Given the description of an element on the screen output the (x, y) to click on. 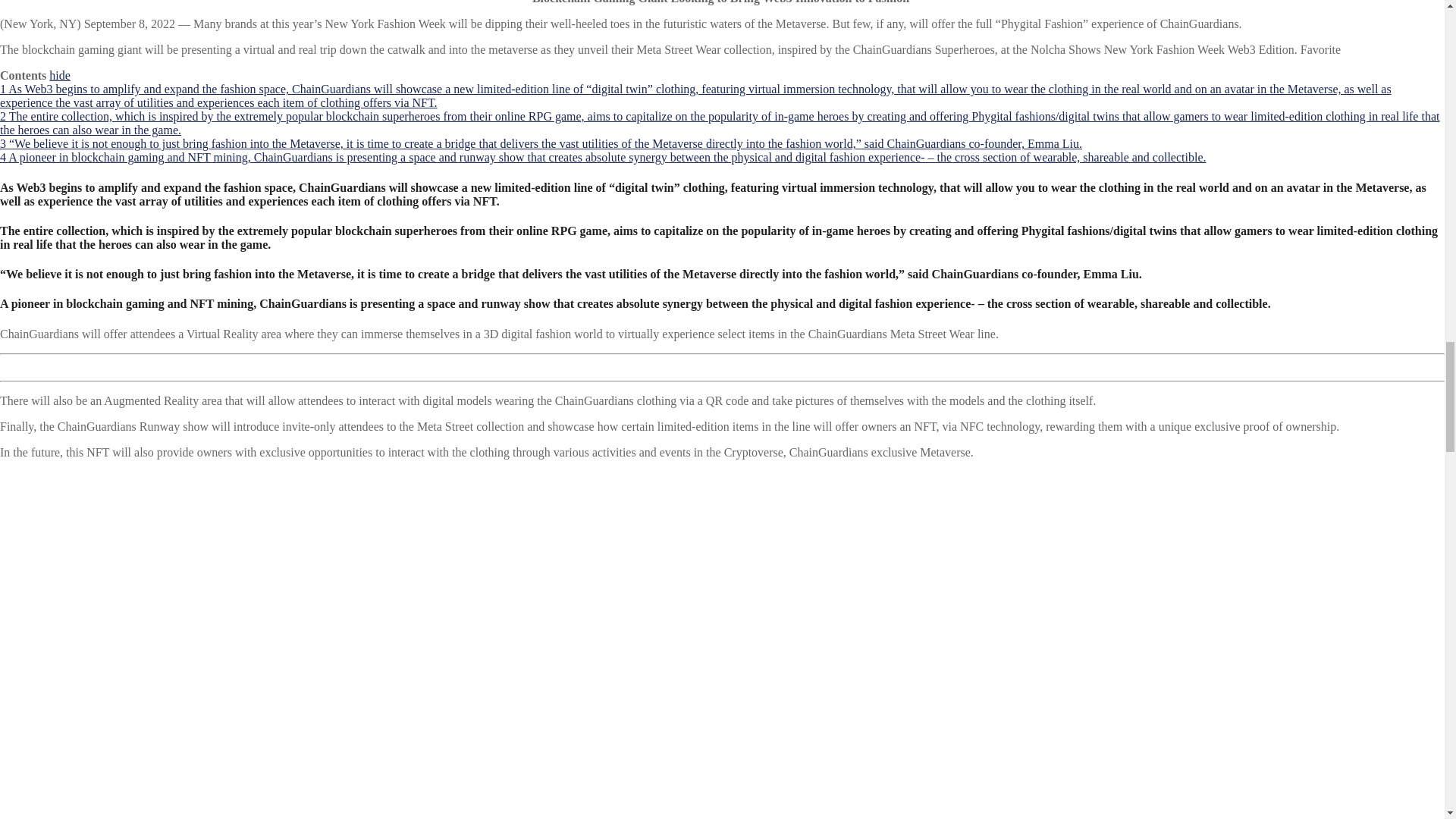
hide (59, 74)
ChainGuardian - E-Crypto News (182, 645)
